Given the description of an element on the screen output the (x, y) to click on. 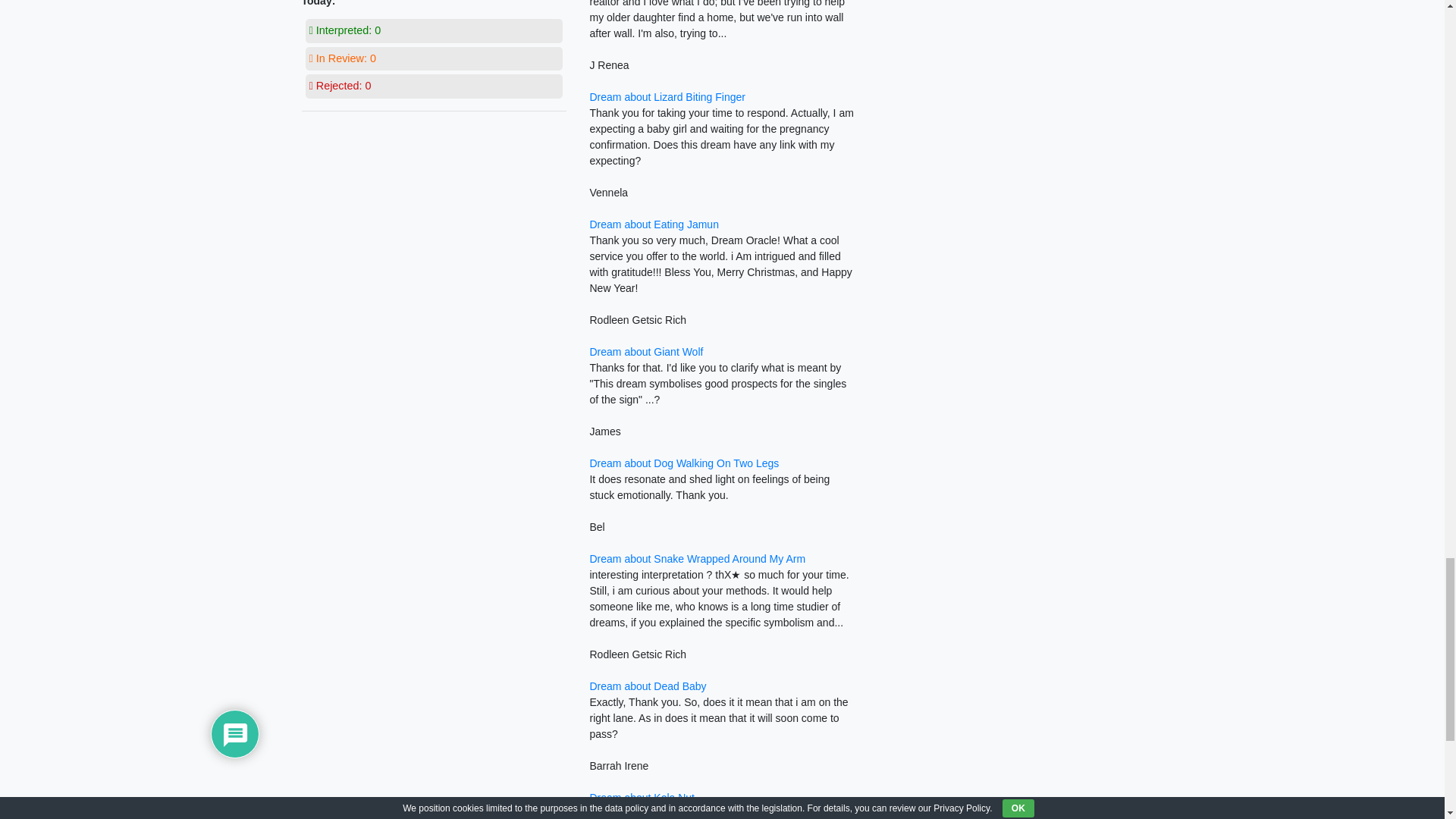
Dream about Snake Wrapped Around My Arm (697, 558)
Dream about Lizard Biting Finger (666, 96)
Dream about Eating Jamun (653, 224)
Dream about Dead Baby (647, 686)
Dream about Giant Wolf (646, 351)
Dream about Dog Walking On Two Legs (683, 463)
Dream about Kola Nut (641, 797)
